Given the description of an element on the screen output the (x, y) to click on. 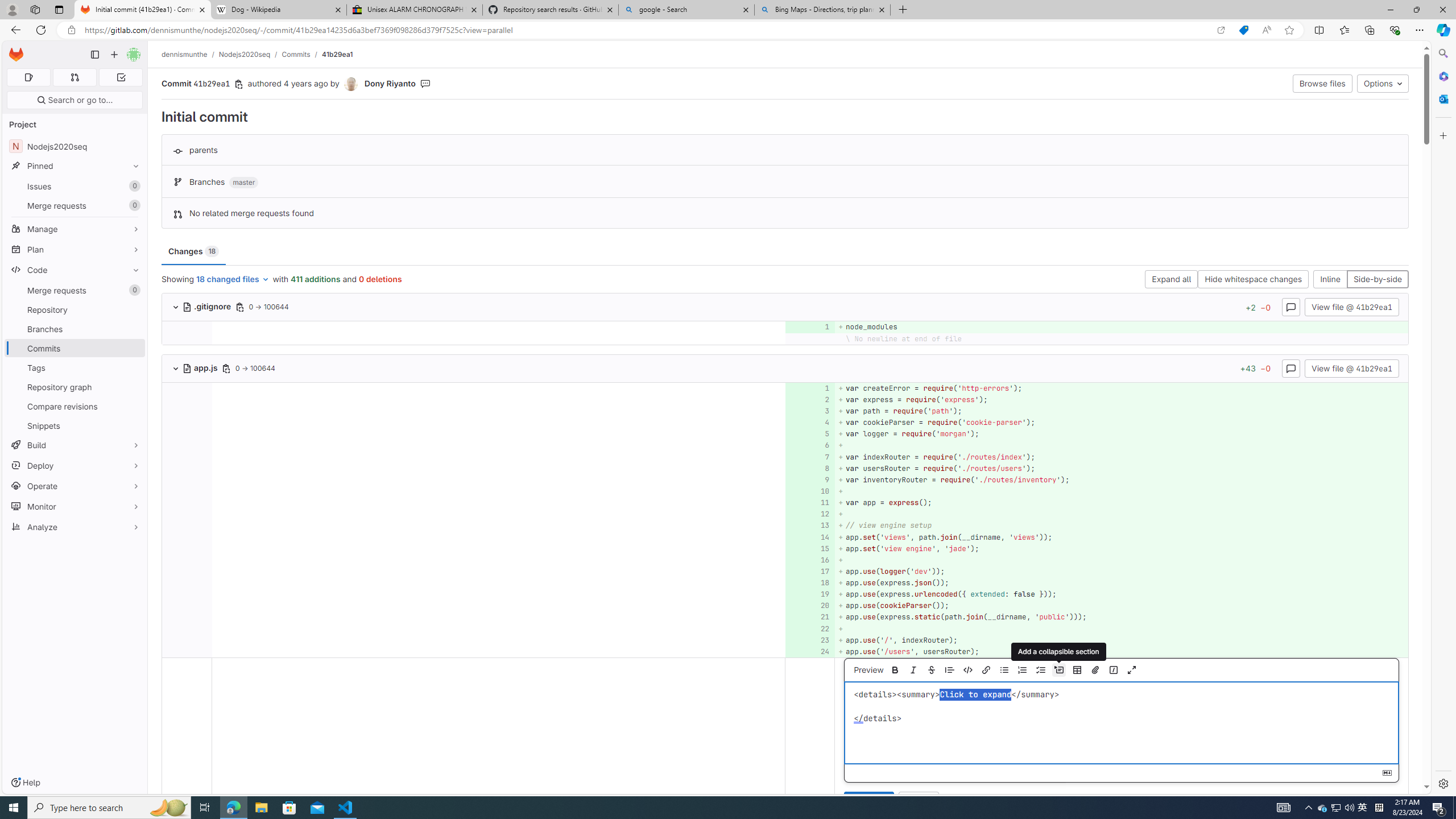
Branches (74, 328)
23 (808, 639)
Help (25, 782)
Add a comment to this line 2 (809, 399)
Tags (74, 367)
Assigned issues 0 (28, 76)
Deploy (74, 465)
Add a comment to this line 21 (809, 617)
Shopping in Microsoft Edge (1243, 29)
Plan (74, 248)
1 (808, 387)
Deploy (74, 465)
